Given the description of an element on the screen output the (x, y) to click on. 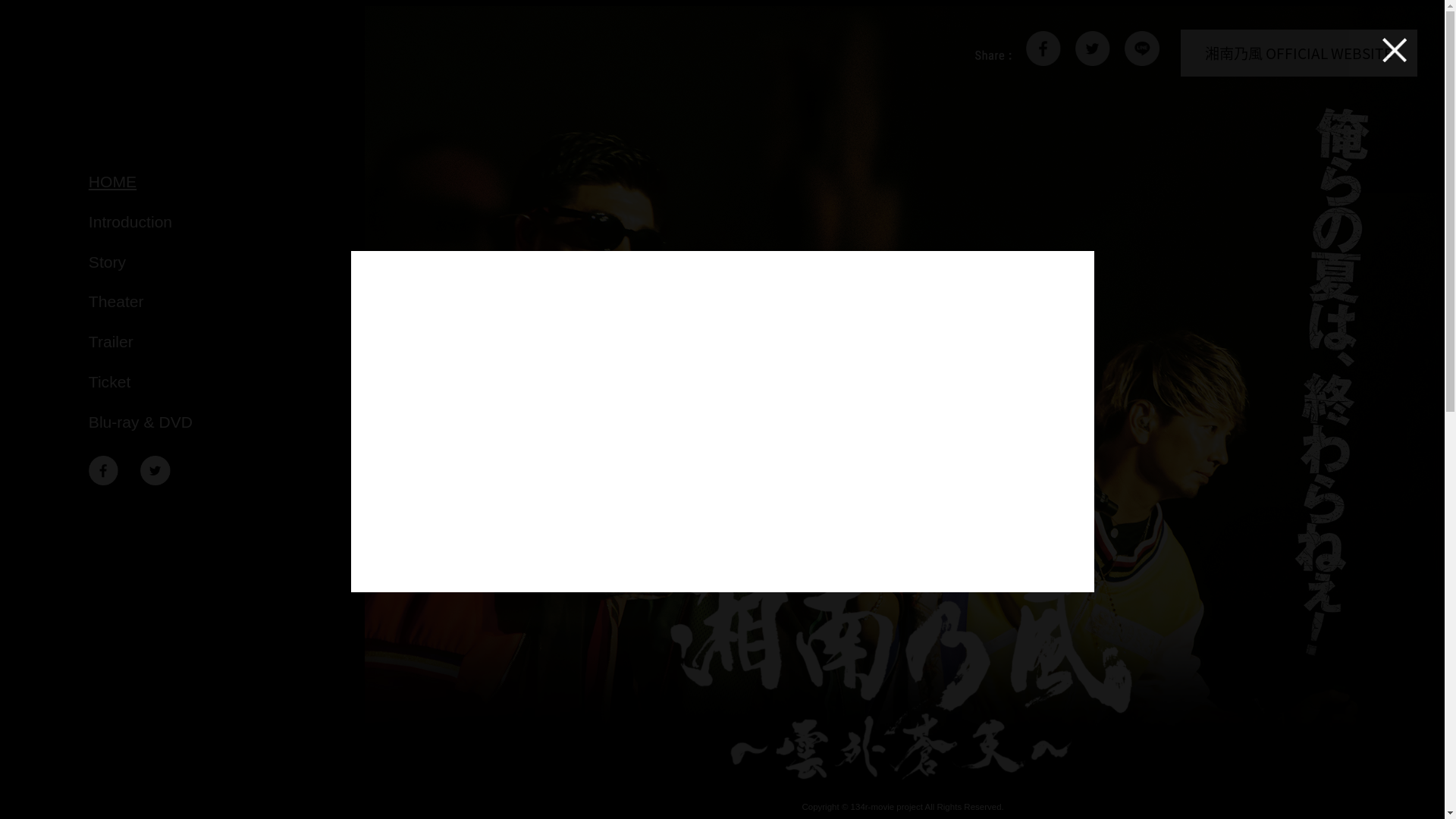
Story Element type: text (224, 262)
Ticket Element type: text (224, 382)
Trailer Element type: text (224, 341)
Blu-ray & DVD Element type: text (224, 421)
Theater Element type: text (224, 301)
HOME Element type: text (224, 181)
Introduction Element type: text (224, 222)
